Given the description of an element on the screen output the (x, y) to click on. 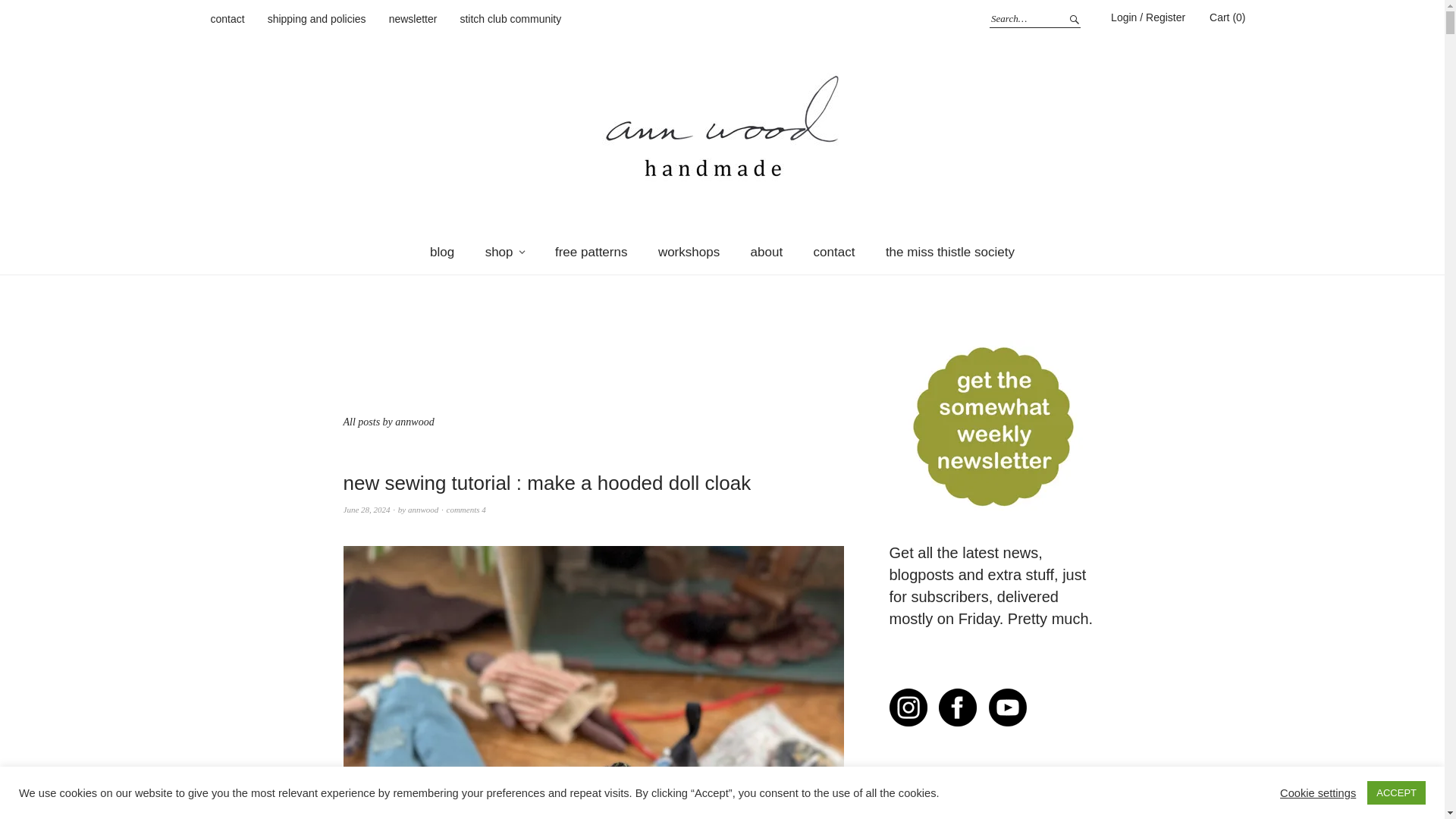
new sewing tutorial : make a hooded doll cloak (546, 482)
free patterns (590, 252)
blog (441, 252)
contact (834, 252)
All posts by annwood (422, 509)
contact (227, 19)
June 28, 2024 (366, 509)
about (766, 252)
comments 4 (464, 509)
stitch club community (510, 19)
the miss thistle society (949, 252)
workshops (689, 252)
shipping and policies (316, 19)
shop (504, 252)
newsletter (413, 19)
